Given the description of an element on the screen output the (x, y) to click on. 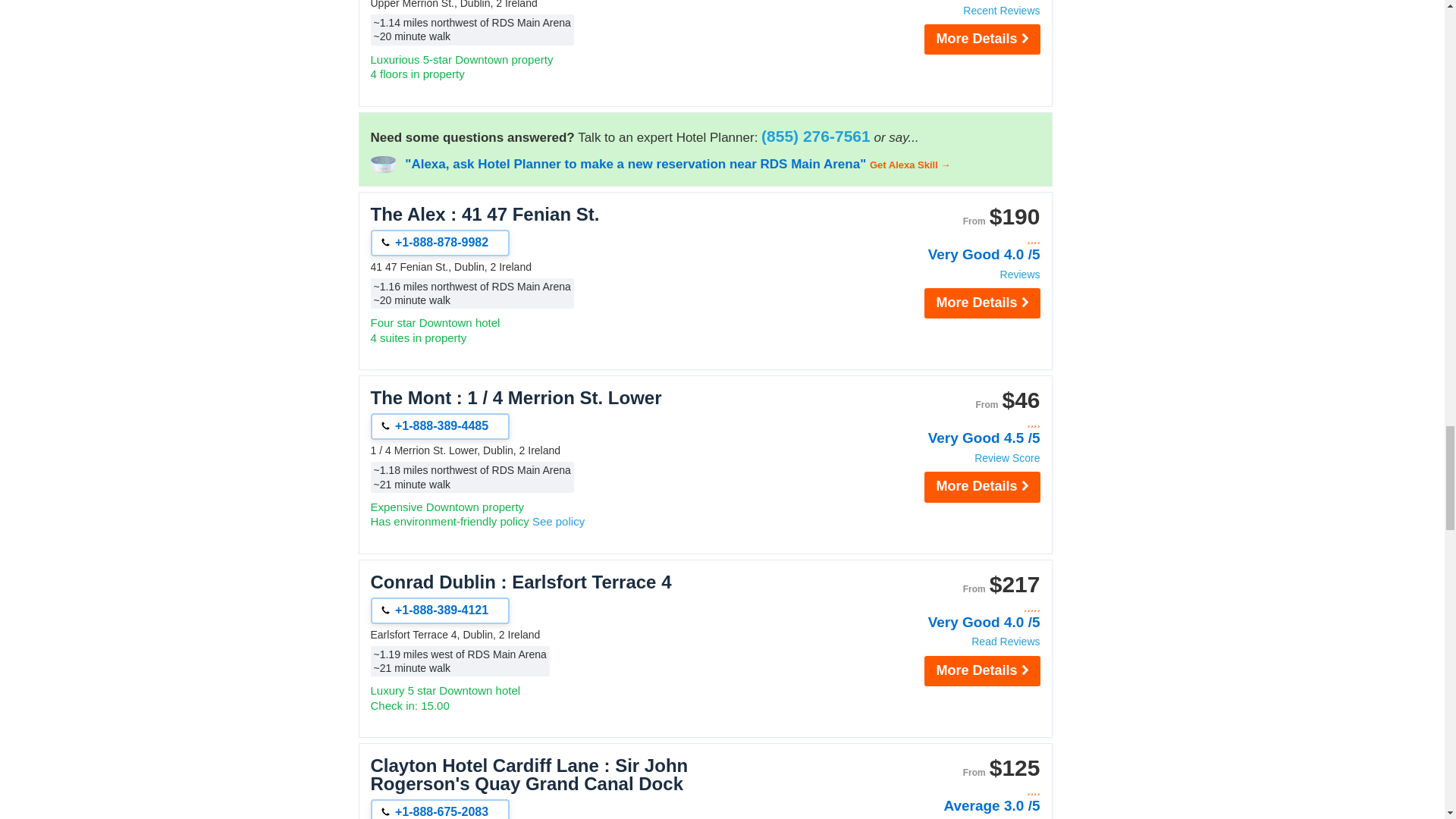
4 stars (958, 422)
5 stars (958, 606)
4 stars (958, 238)
4 stars (958, 789)
